Given the description of an element on the screen output the (x, y) to click on. 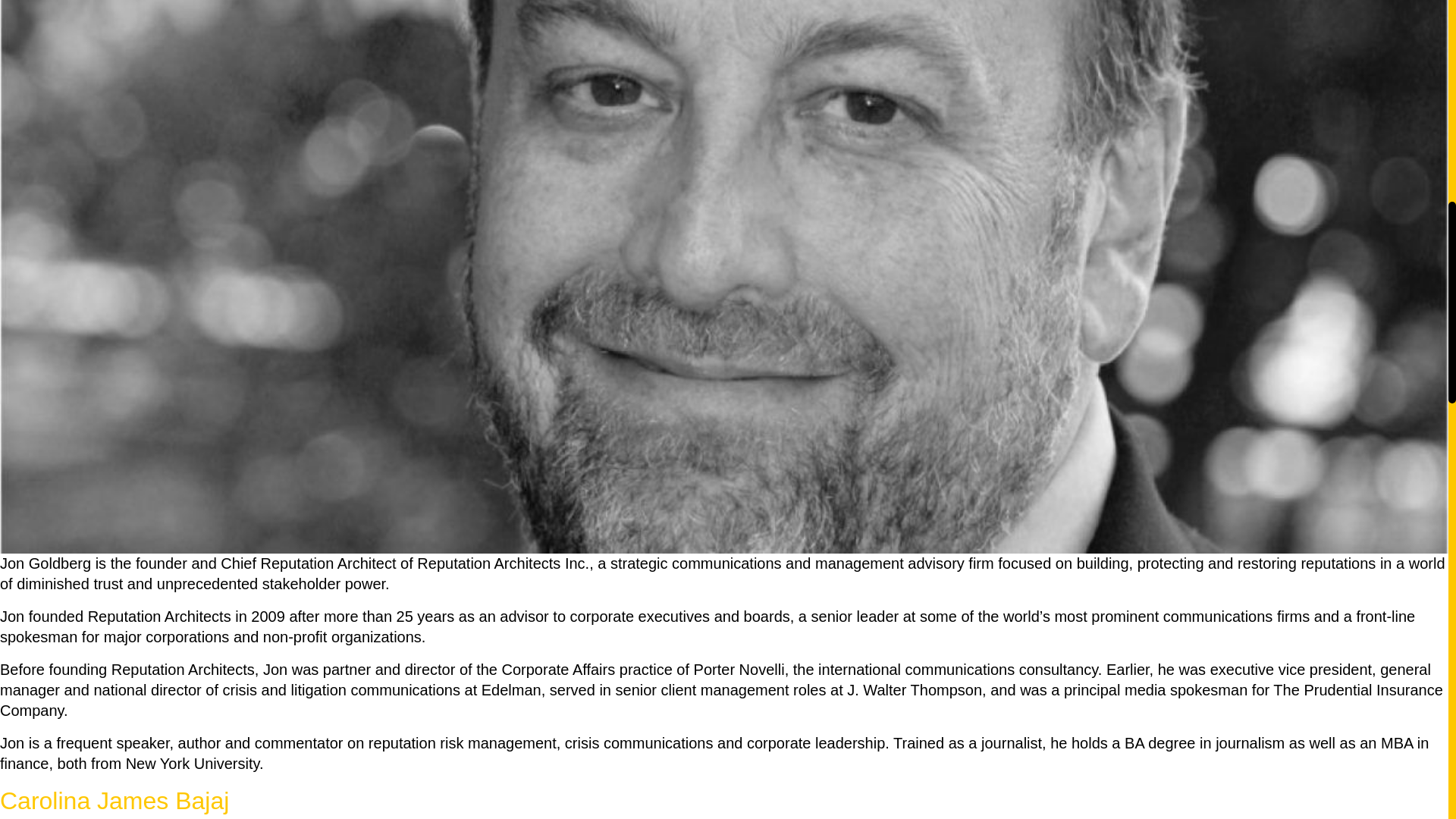
Carolina James Bajaj (114, 800)
